Given the description of an element on the screen output the (x, y) to click on. 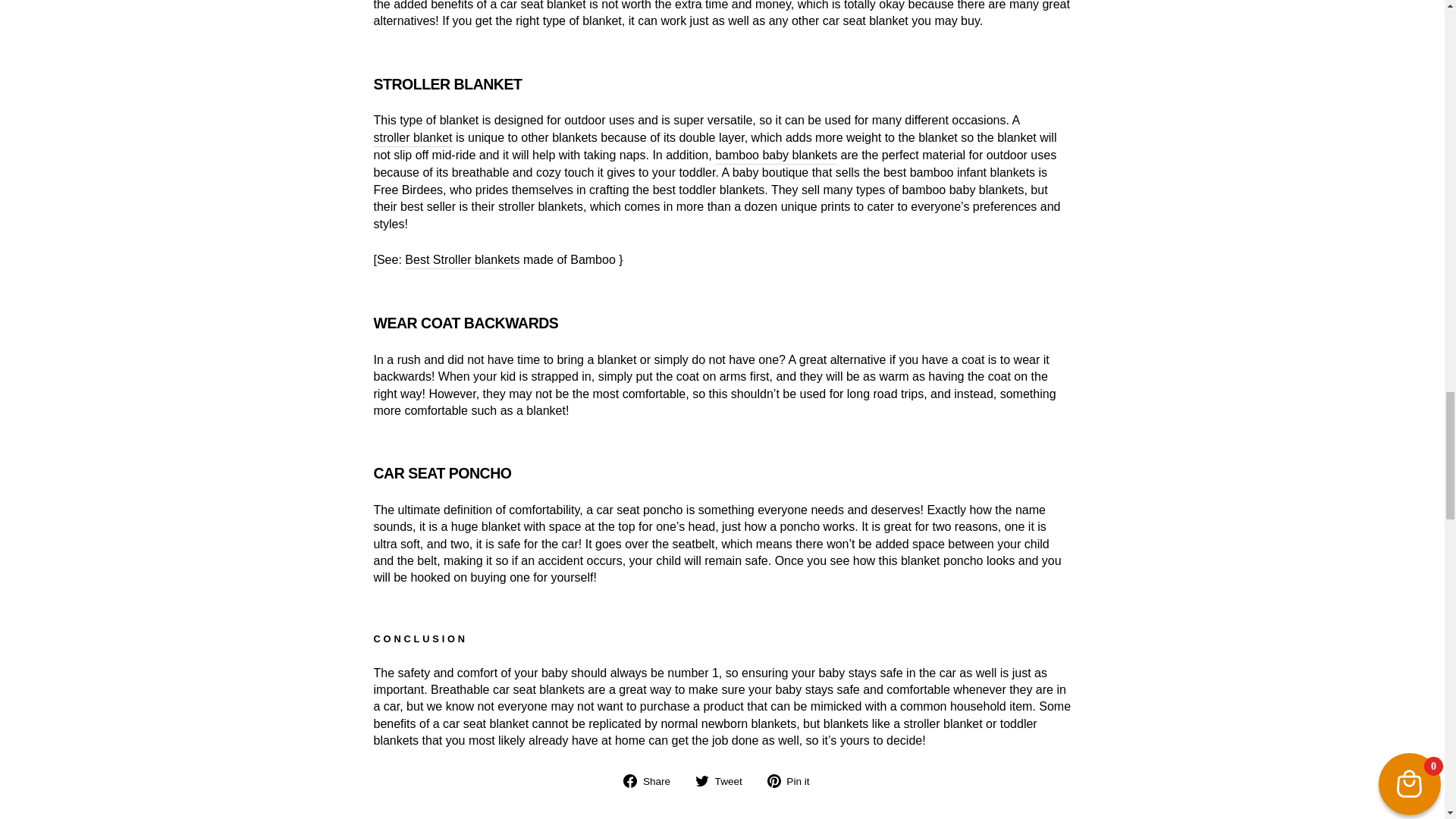
Tweet on Twitter (724, 781)
Share on Facebook (652, 781)
twitter (702, 780)
Pin on Pinterest (794, 781)
